Given the description of an element on the screen output the (x, y) to click on. 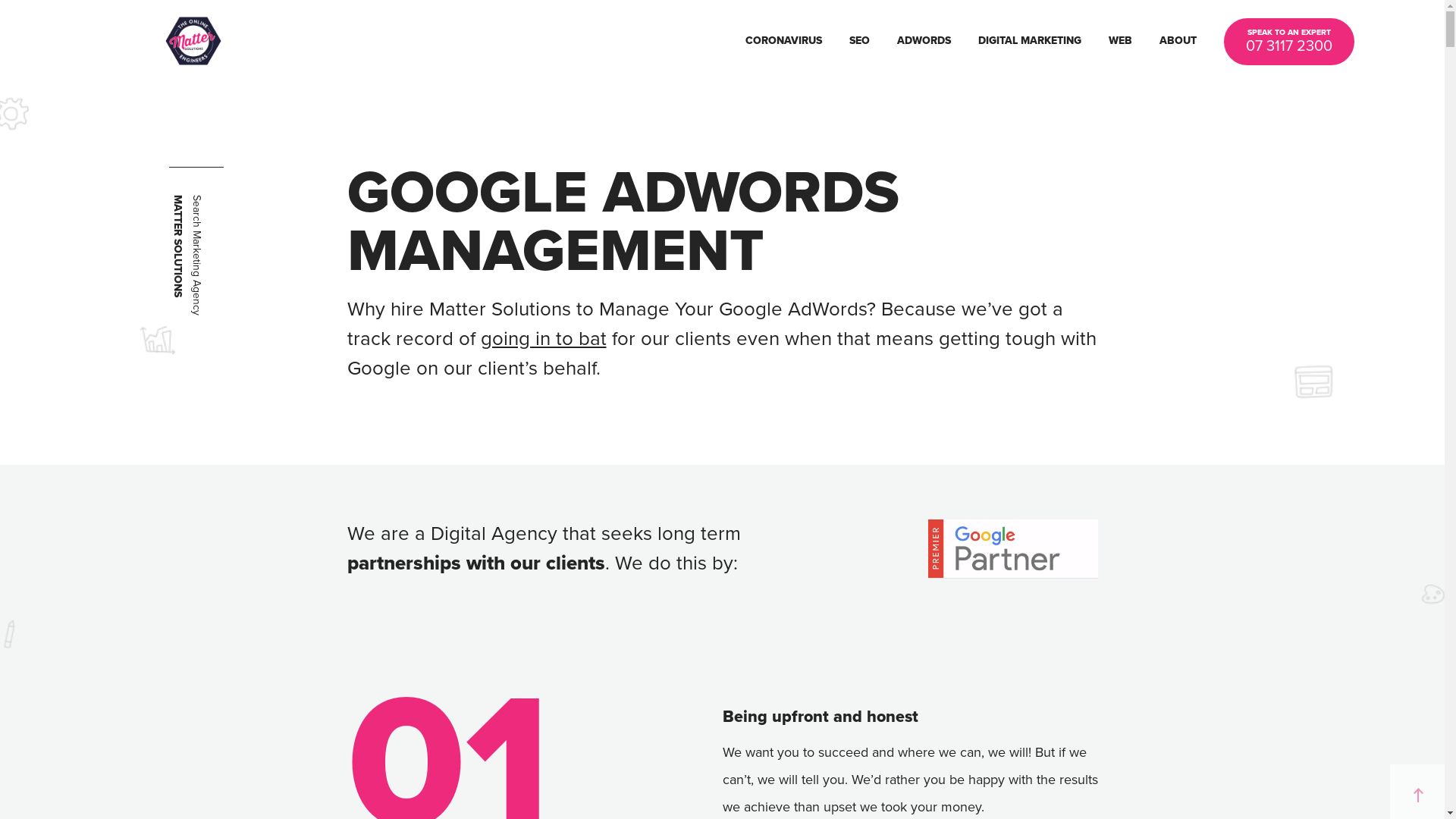
CORONAVIRUS Element type: text (783, 40)
WEB Element type: text (1120, 40)
ADWORDS Element type: text (923, 40)
ABOUT Element type: text (1177, 40)
SEO Element type: text (859, 40)
SPEAK TO AN EXPERT
07 3117 2300 Element type: text (1288, 41)
DIGITAL MARKETING Element type: text (1029, 40)
